Given the description of an element on the screen output the (x, y) to click on. 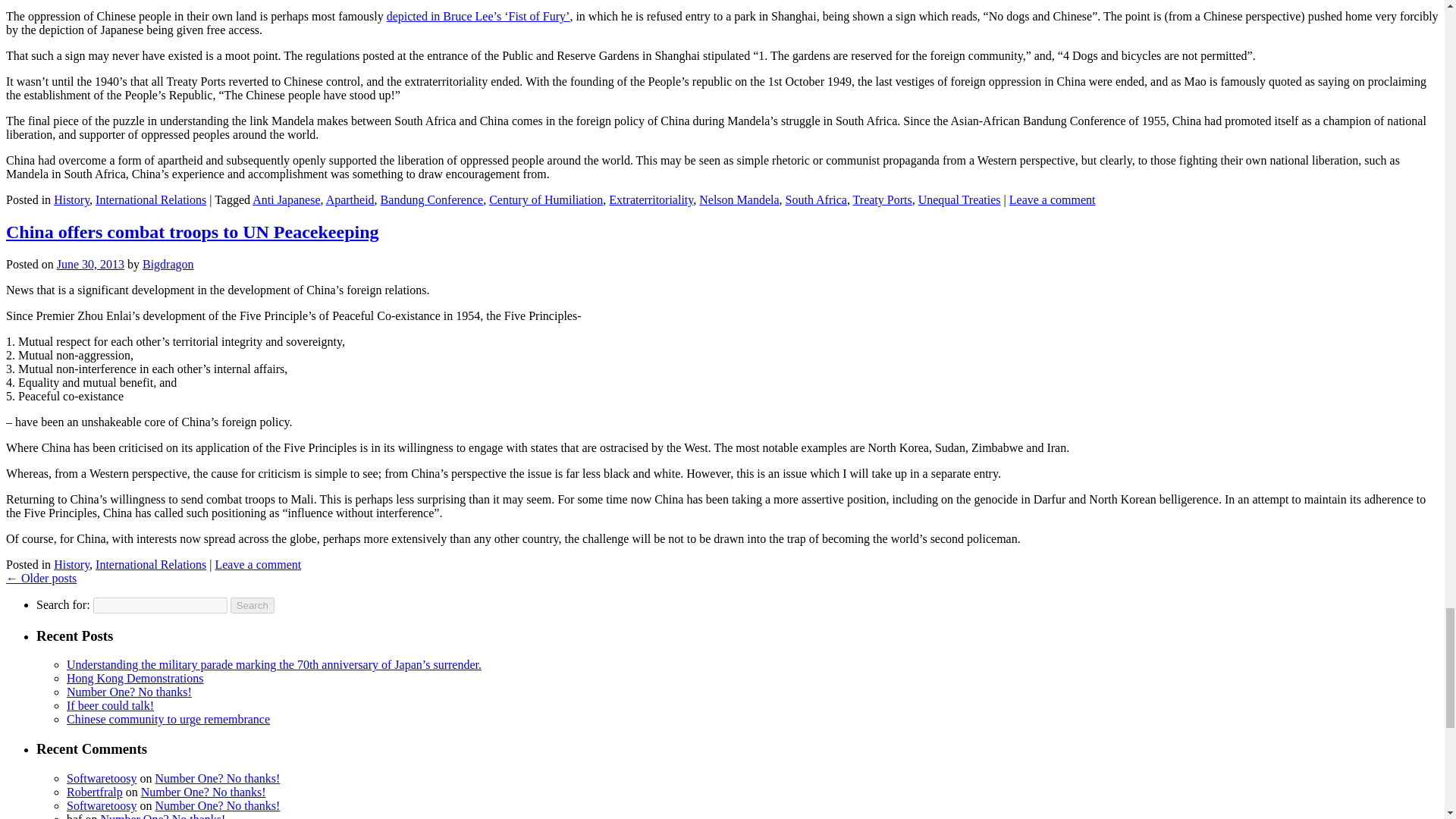
Search (252, 605)
